Given the description of an element on the screen output the (x, y) to click on. 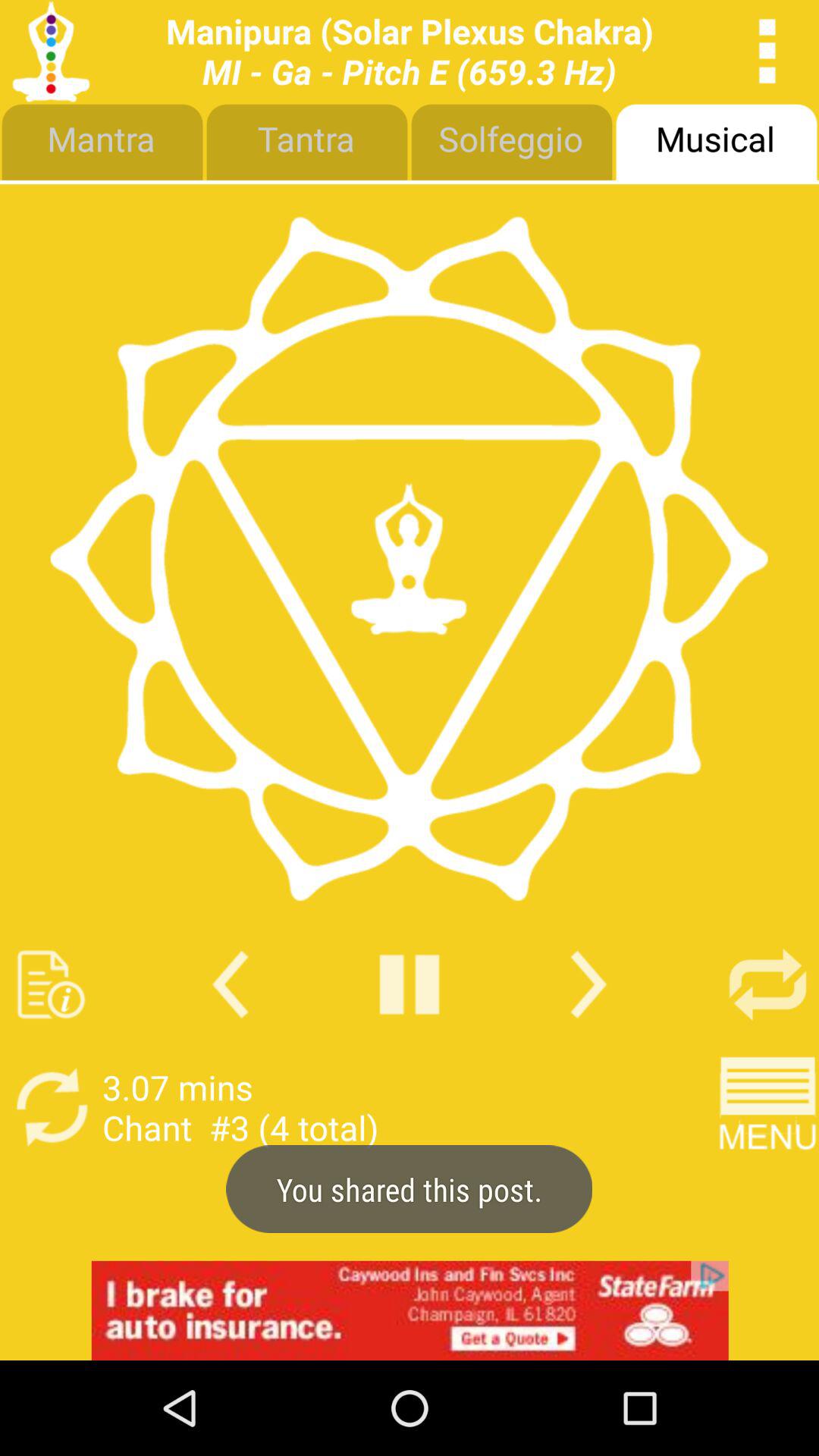
click the refresh button (767, 984)
